Given the description of an element on the screen output the (x, y) to click on. 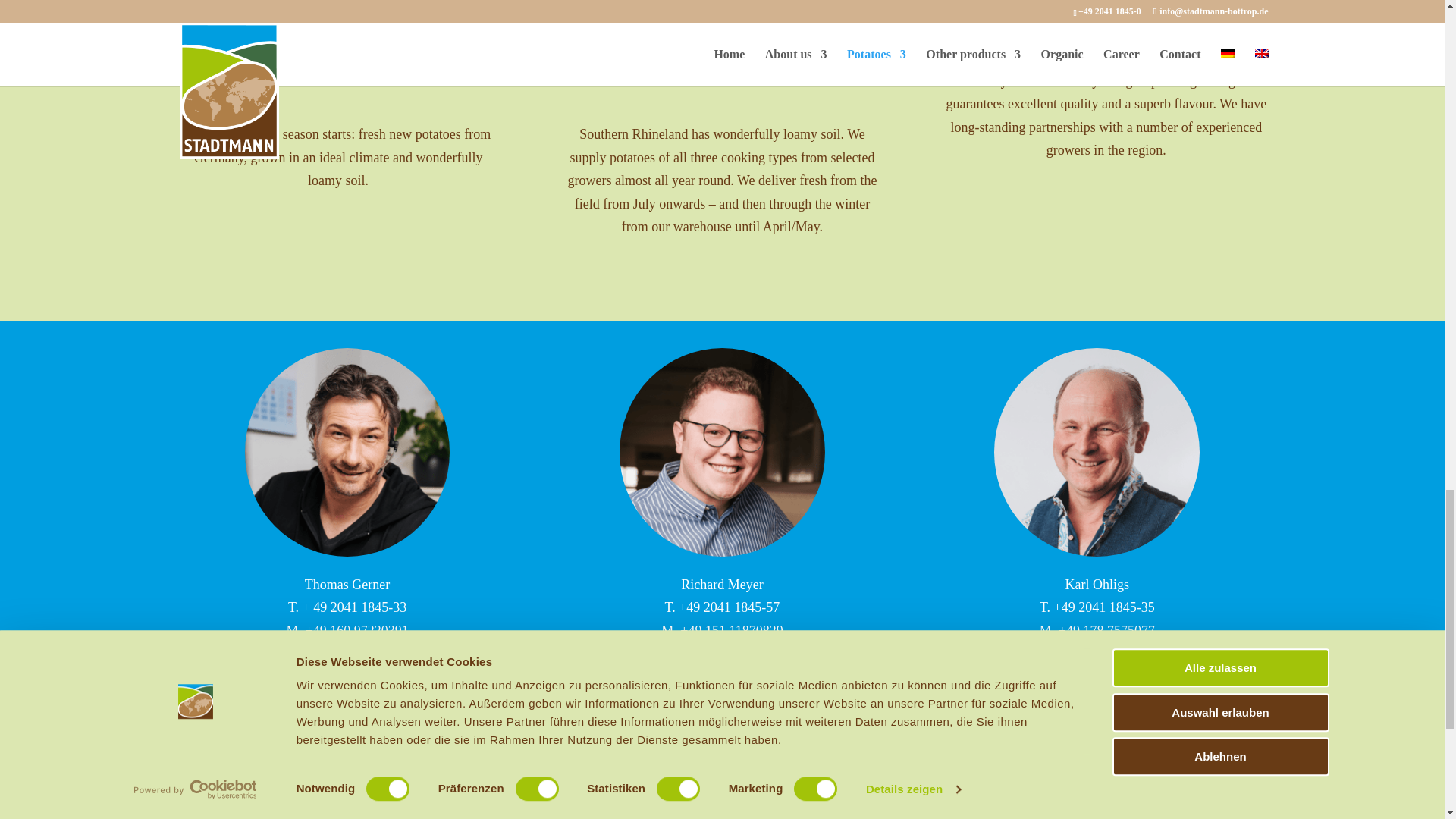
Gerner (346, 452)
From the Palatinate (337, 46)
Mayer (722, 452)
Ohligs (1096, 452)
From the Rhineland (721, 46)
